Given the description of an element on the screen output the (x, y) to click on. 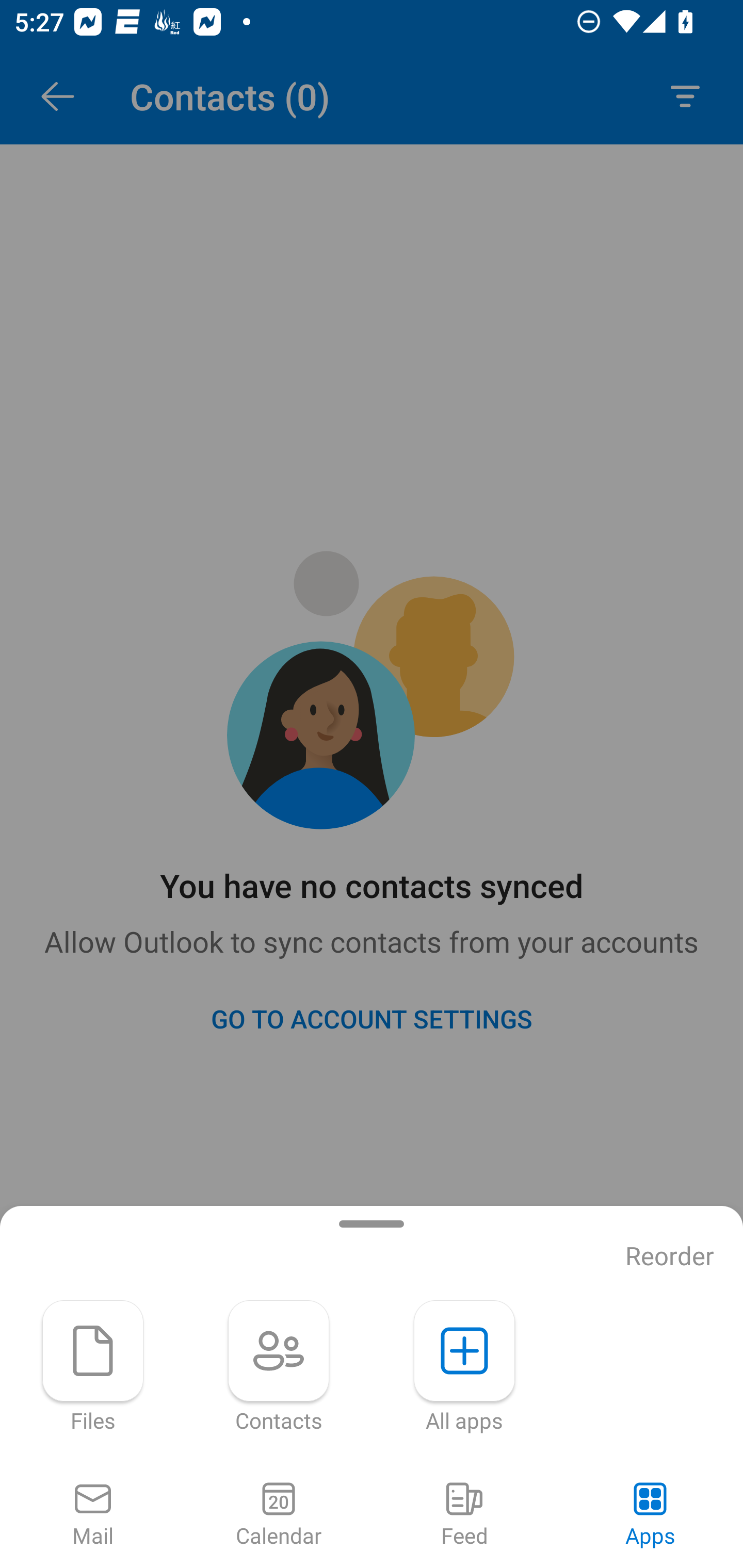
Reorder (669, 1256)
Files (92, 1366)
Contacts (278, 1366)
All apps (464, 1366)
Mail (92, 1515)
Calendar (278, 1515)
Feed (464, 1515)
